Given the description of an element on the screen output the (x, y) to click on. 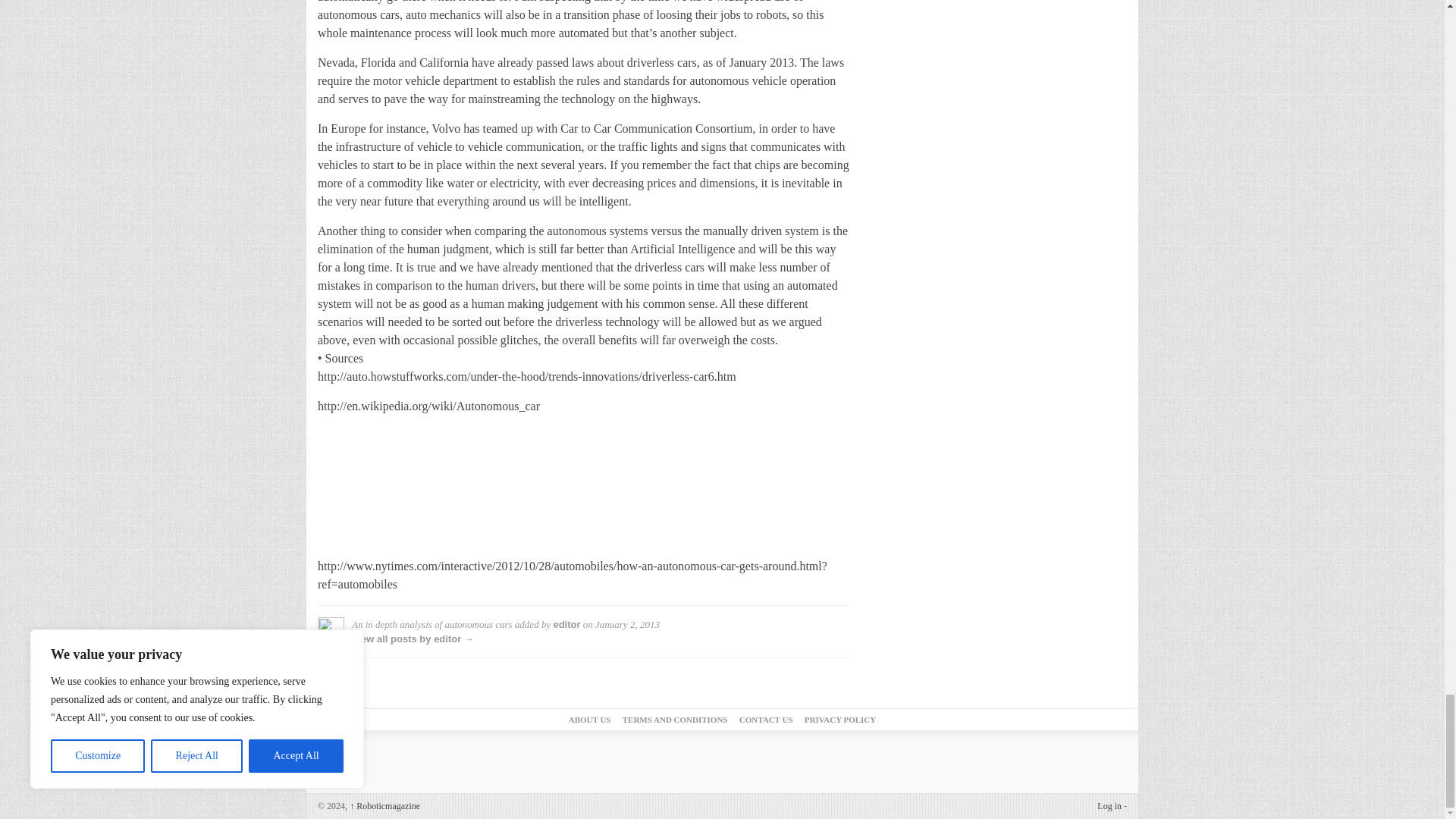
Roboticmagazine (384, 805)
Yes, Driverless Cars Know the Way to San Jose (430, 483)
